Given the description of an element on the screen output the (x, y) to click on. 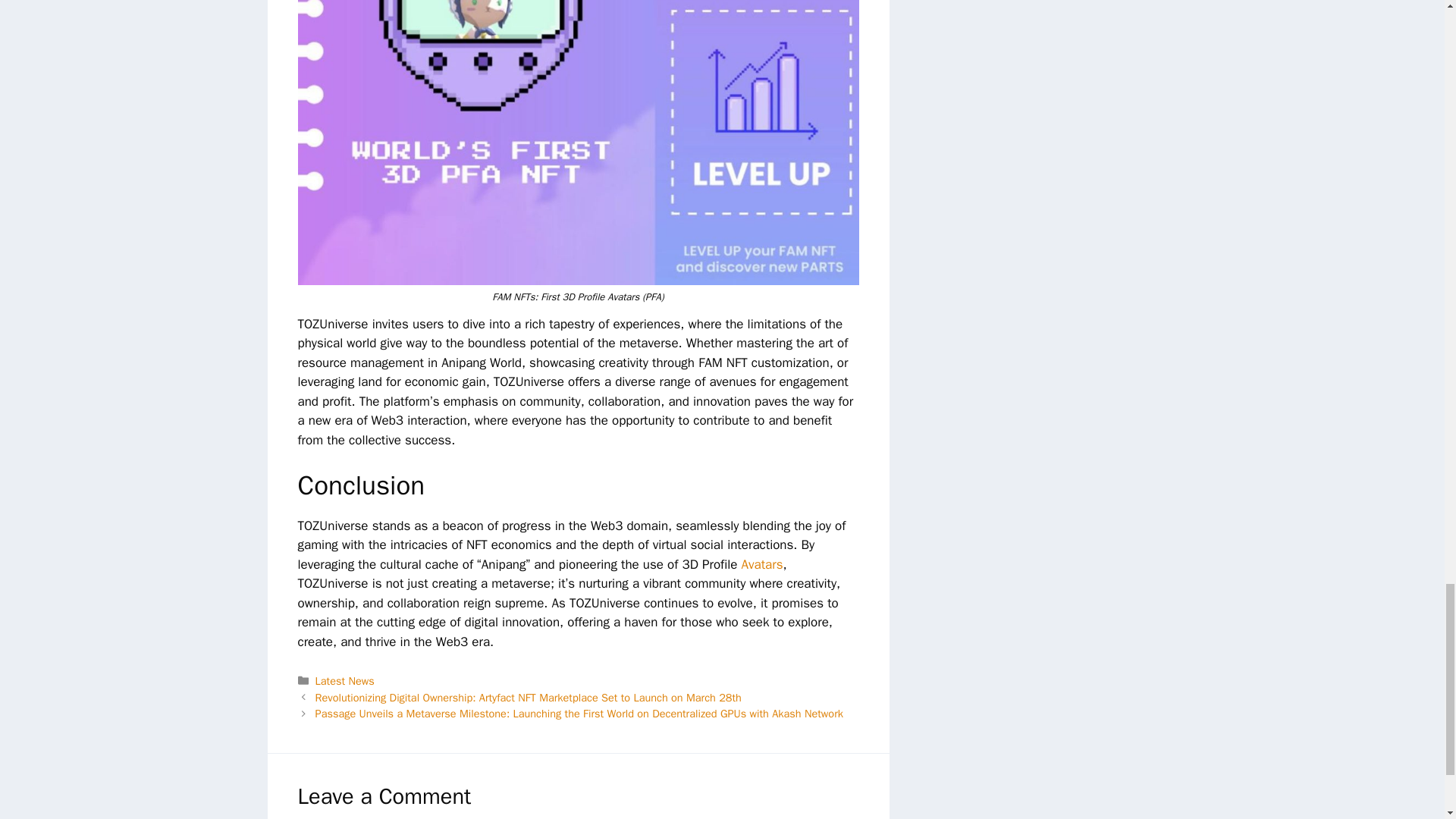
Avatars (762, 564)
Latest News (344, 680)
